Given the description of an element on the screen output the (x, y) to click on. 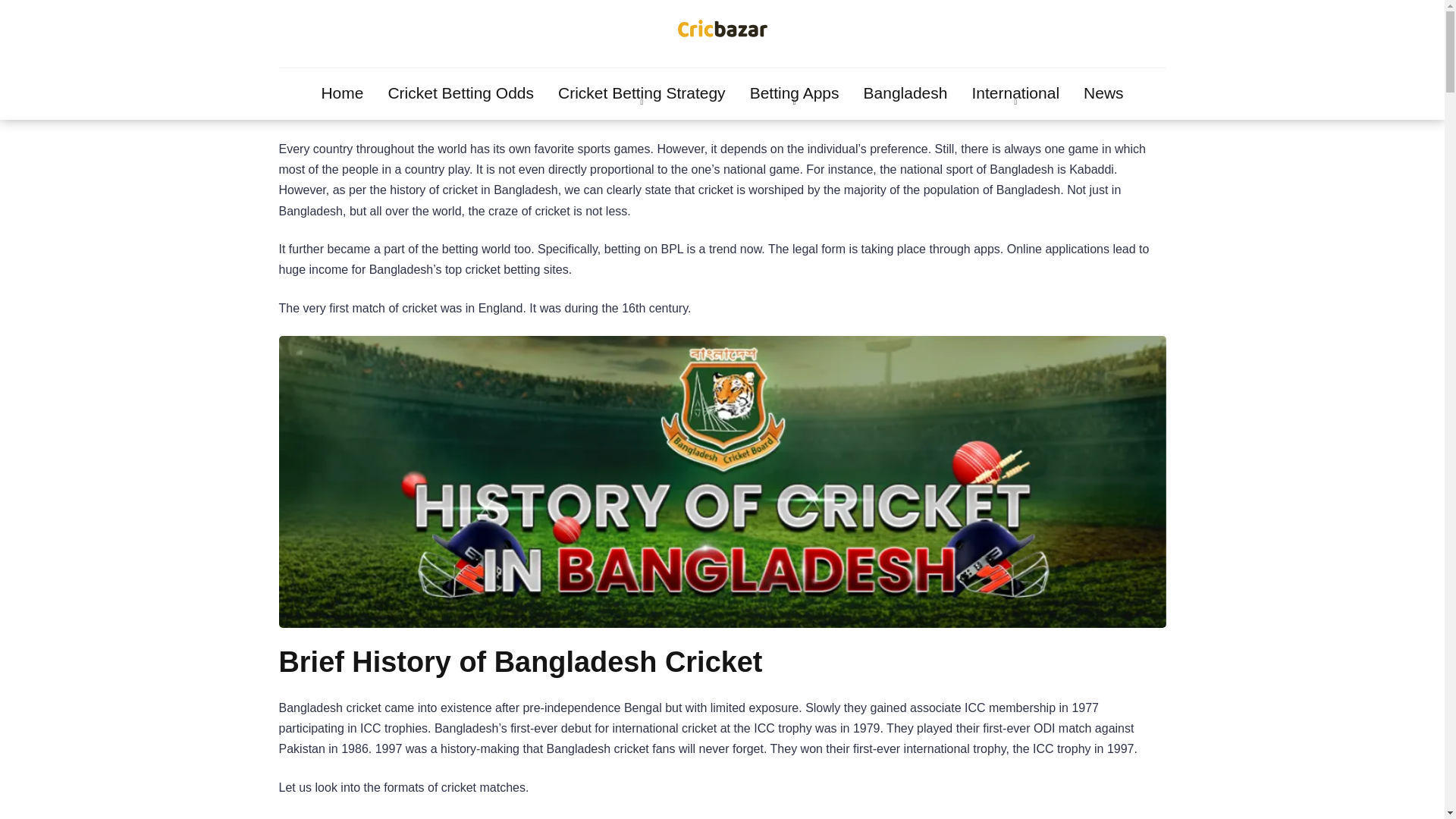
CricBazar (721, 31)
International (1015, 93)
Bangladesh (905, 93)
Cricket Betting Strategy (642, 93)
News (1103, 93)
Cricket Betting Odds (460, 93)
Home (341, 93)
Betting Apps (794, 93)
